Given the description of an element on the screen output the (x, y) to click on. 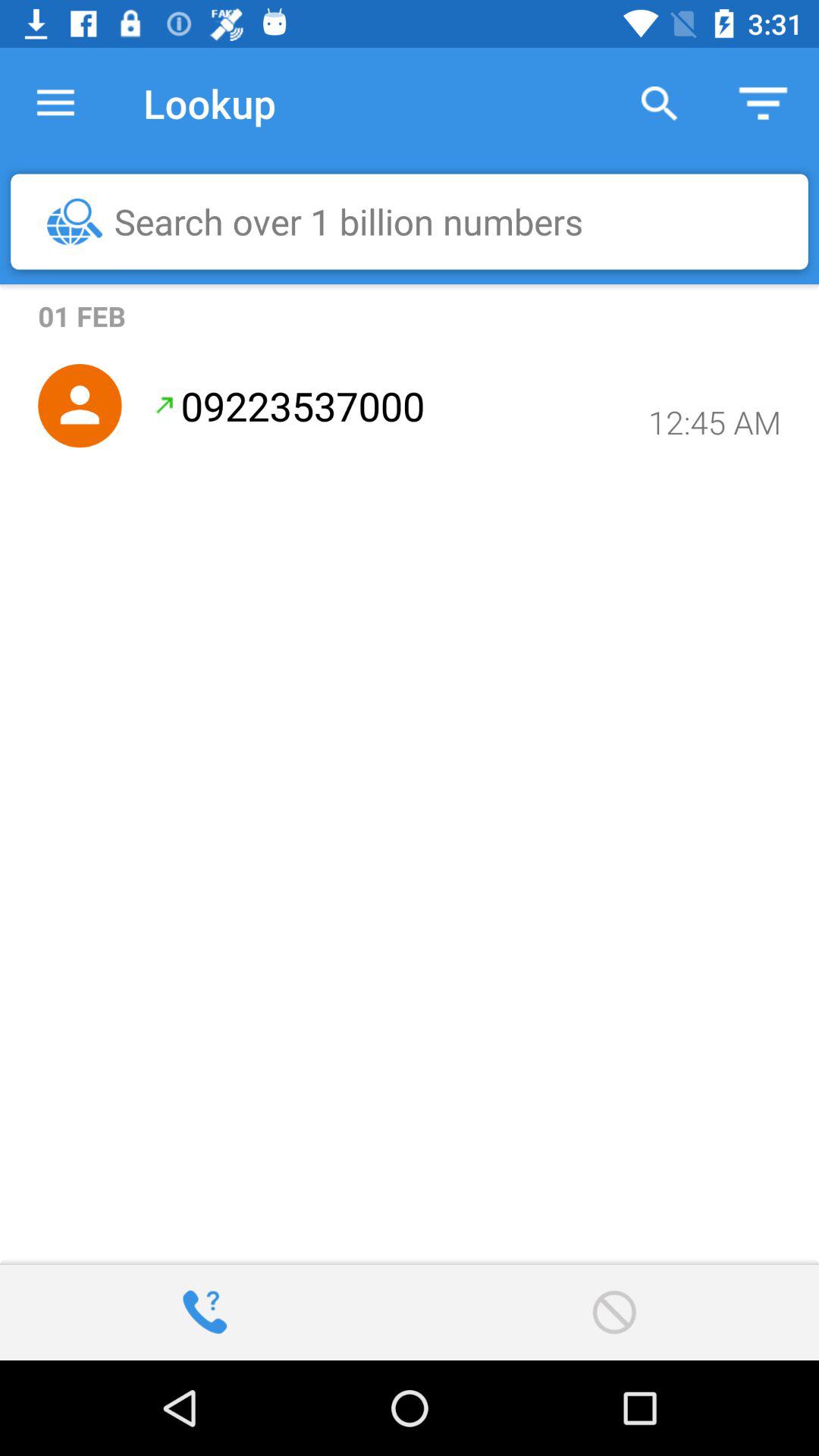
open the item next to lookup icon (55, 103)
